Given the description of an element on the screen output the (x, y) to click on. 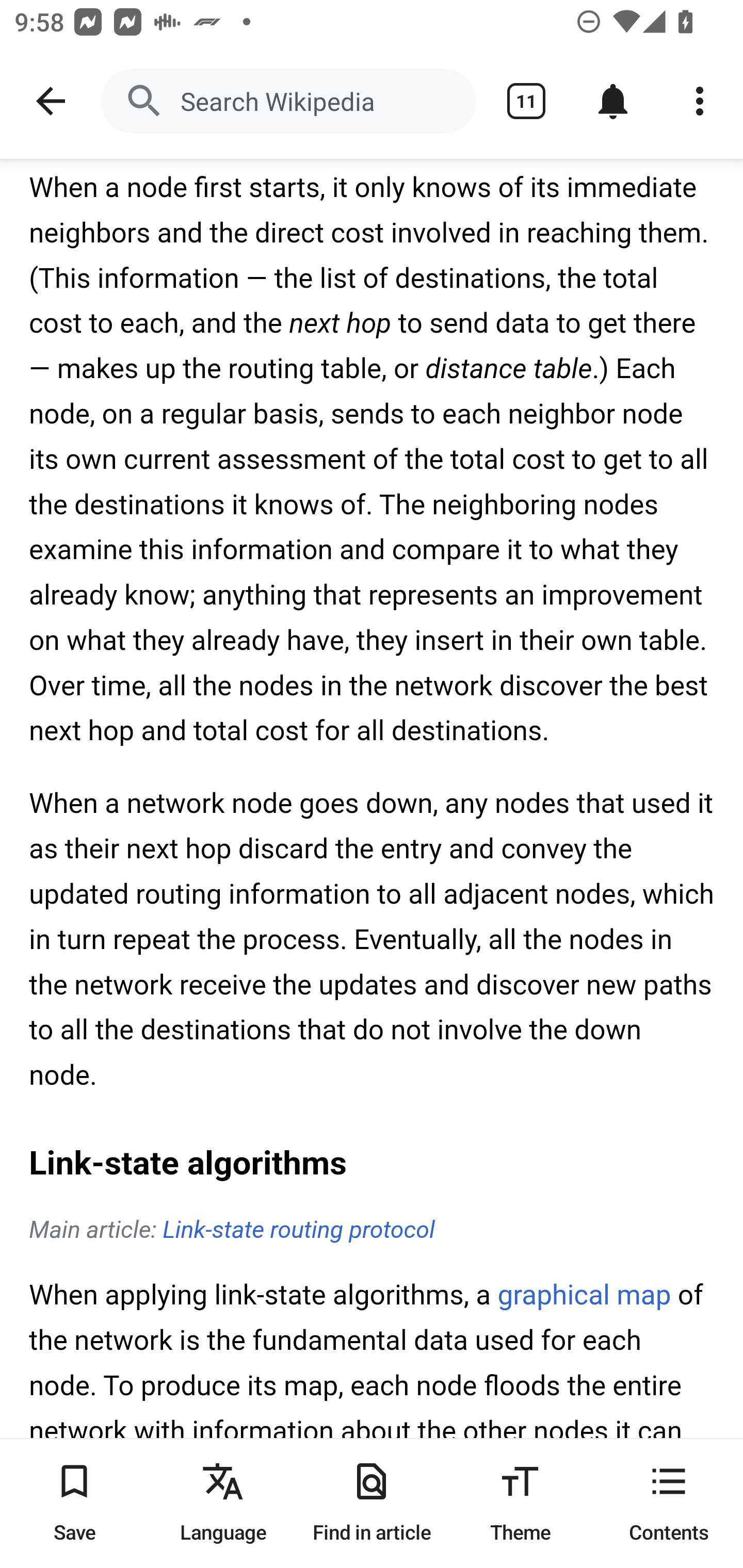
Show tabs 11 (525, 100)
Notifications (612, 100)
Navigate up (50, 101)
More options (699, 101)
Search Wikipedia (288, 100)
Link-state routing protocol (298, 1230)
graphical map (583, 1296)
Save (74, 1502)
Language (222, 1502)
Find in article (371, 1502)
Theme (519, 1502)
Contents (668, 1502)
